Given the description of an element on the screen output the (x, y) to click on. 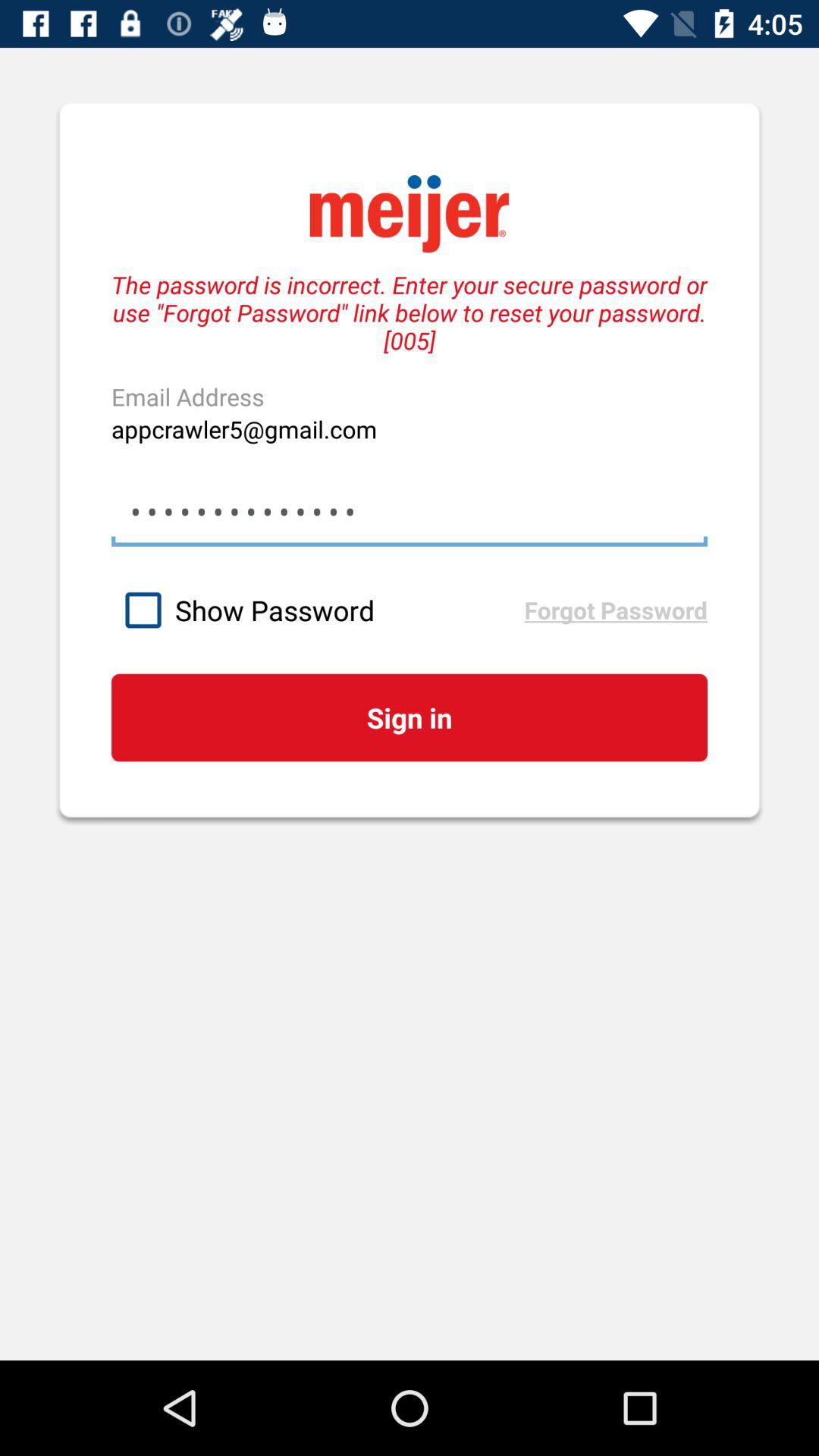
launch appcrawler3116 item (409, 511)
